Given the description of an element on the screen output the (x, y) to click on. 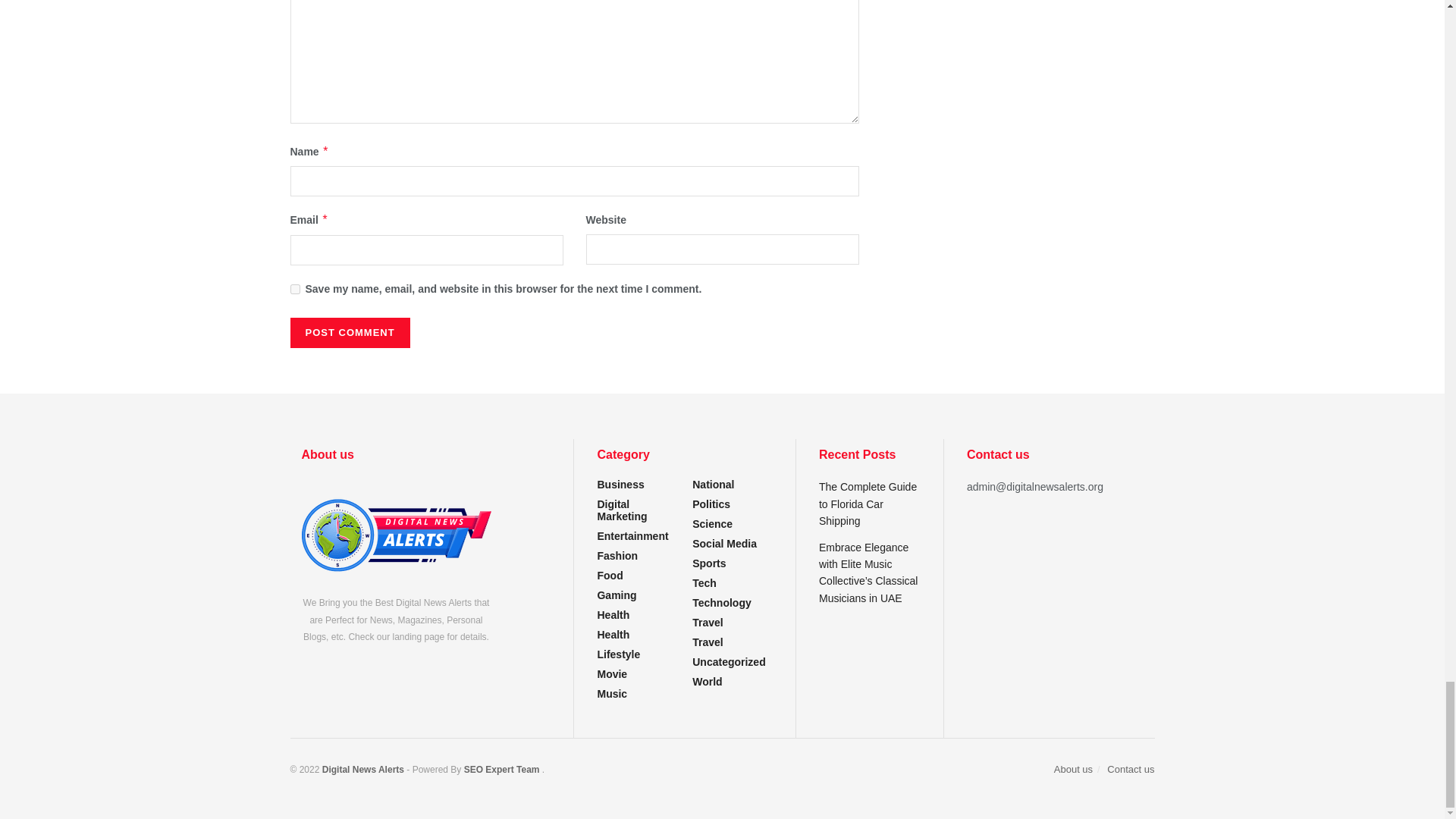
Digital News Alerts (364, 769)
About us (396, 535)
Post Comment (349, 332)
Umair Ali (501, 769)
yes (294, 289)
